Given the description of an element on the screen output the (x, y) to click on. 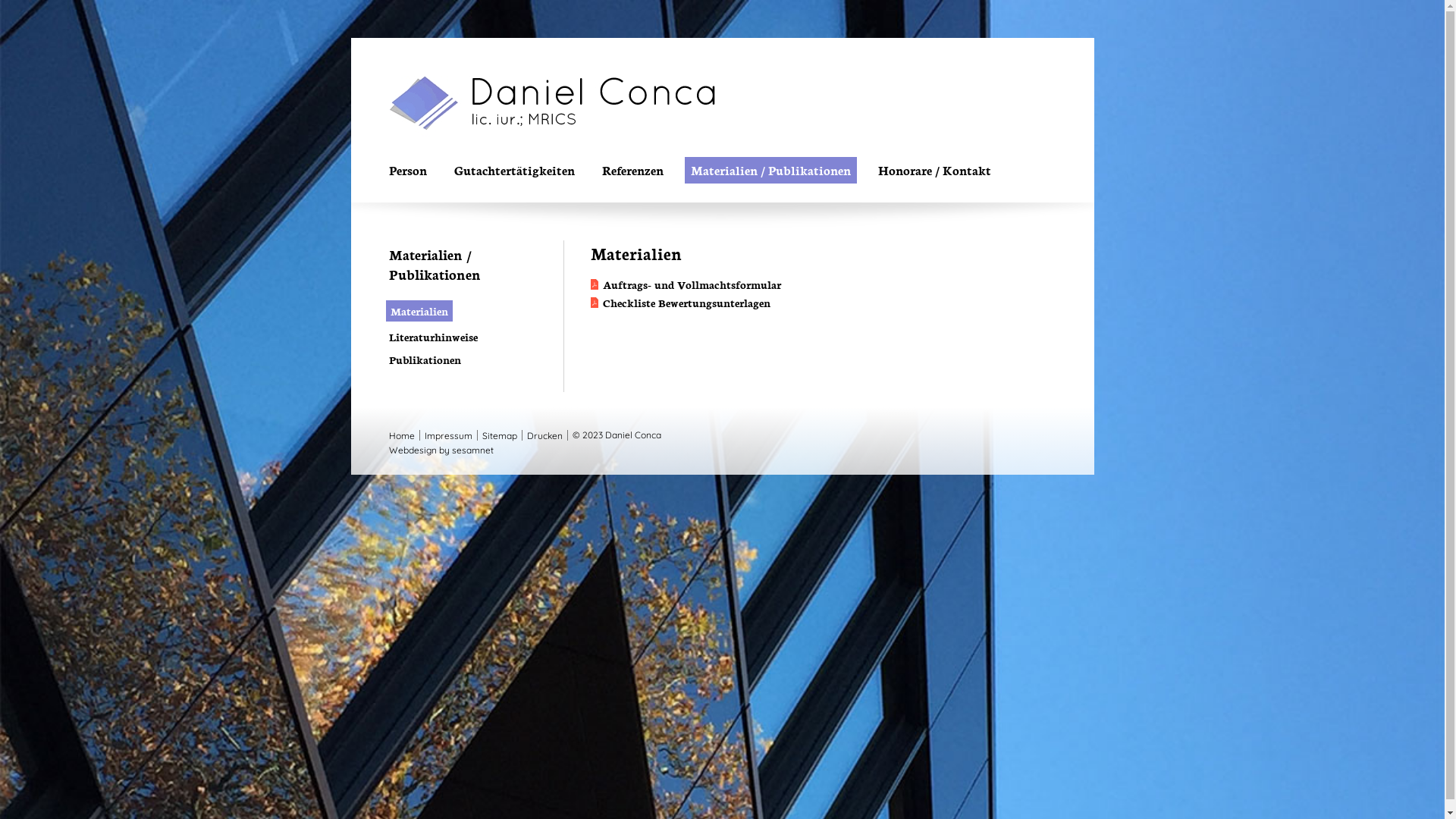
Impressum Element type: text (448, 435)
Home Element type: text (403, 435)
Literaturhinweise Element type: text (432, 336)
Honorare / Kontakt Element type: text (934, 169)
Materialien Element type: text (418, 310)
Drucken Element type: text (543, 435)
Referenzen Element type: text (632, 169)
Materialien / Publikationen Element type: text (770, 169)
Webdesign by sesamnet Element type: text (440, 449)
Auftrags- und Vollmachtsformular Element type: text (684, 284)
Person Element type: text (407, 169)
Sitemap Element type: text (499, 435)
Publikationen Element type: text (424, 359)
Checkliste Bewertungsunterlagen Element type: text (679, 302)
